Given the description of an element on the screen output the (x, y) to click on. 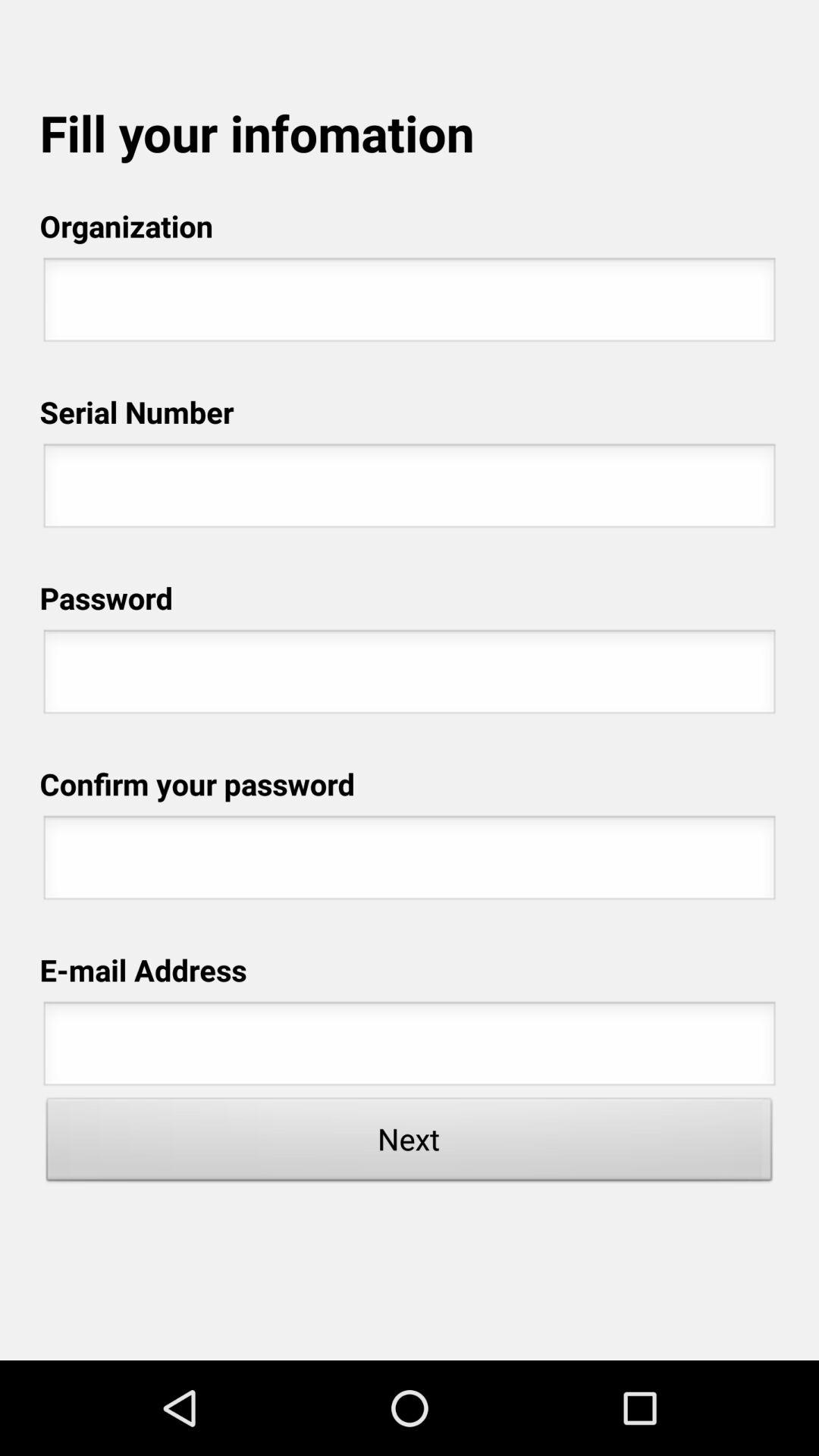
confirm password (409, 862)
